Given the description of an element on the screen output the (x, y) to click on. 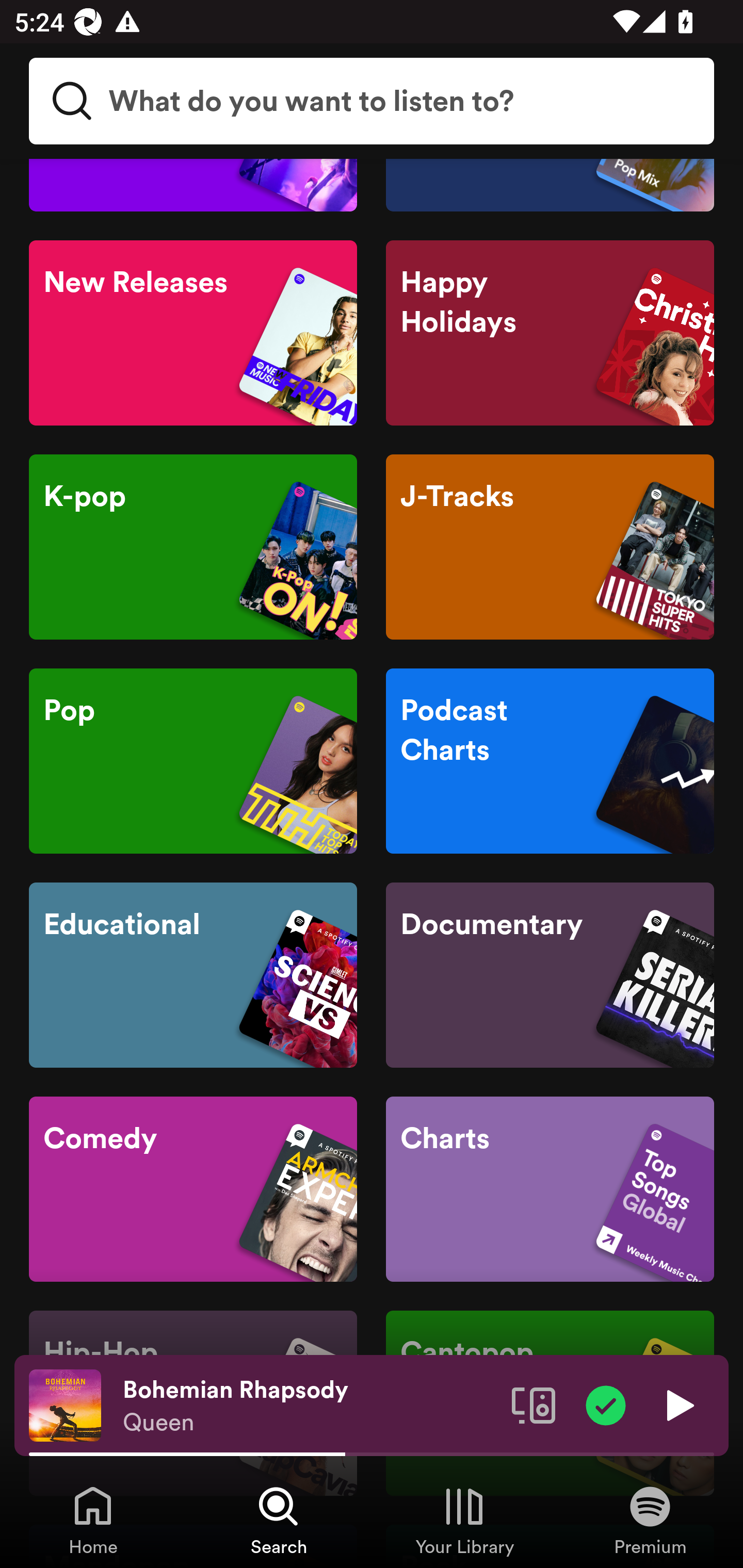
New Releases (192, 331)
Happy Holidays (549, 331)
K-pop (192, 546)
J-Tracks (549, 546)
Pop (192, 759)
Podcast Charts (549, 759)
Educational (192, 974)
Documentary (549, 974)
Comedy (192, 1188)
Charts (549, 1188)
Bohemian Rhapsody Queen (309, 1405)
The cover art of the currently playing track (64, 1404)
Connect to a device. Opens the devices menu (533, 1404)
Item added (605, 1404)
Play (677, 1404)
Home, Tab 1 of 4 Home Home (92, 1519)
Search, Tab 2 of 4 Search Search (278, 1519)
Your Library, Tab 3 of 4 Your Library Your Library (464, 1519)
Premium, Tab 4 of 4 Premium Premium (650, 1519)
